Given the description of an element on the screen output the (x, y) to click on. 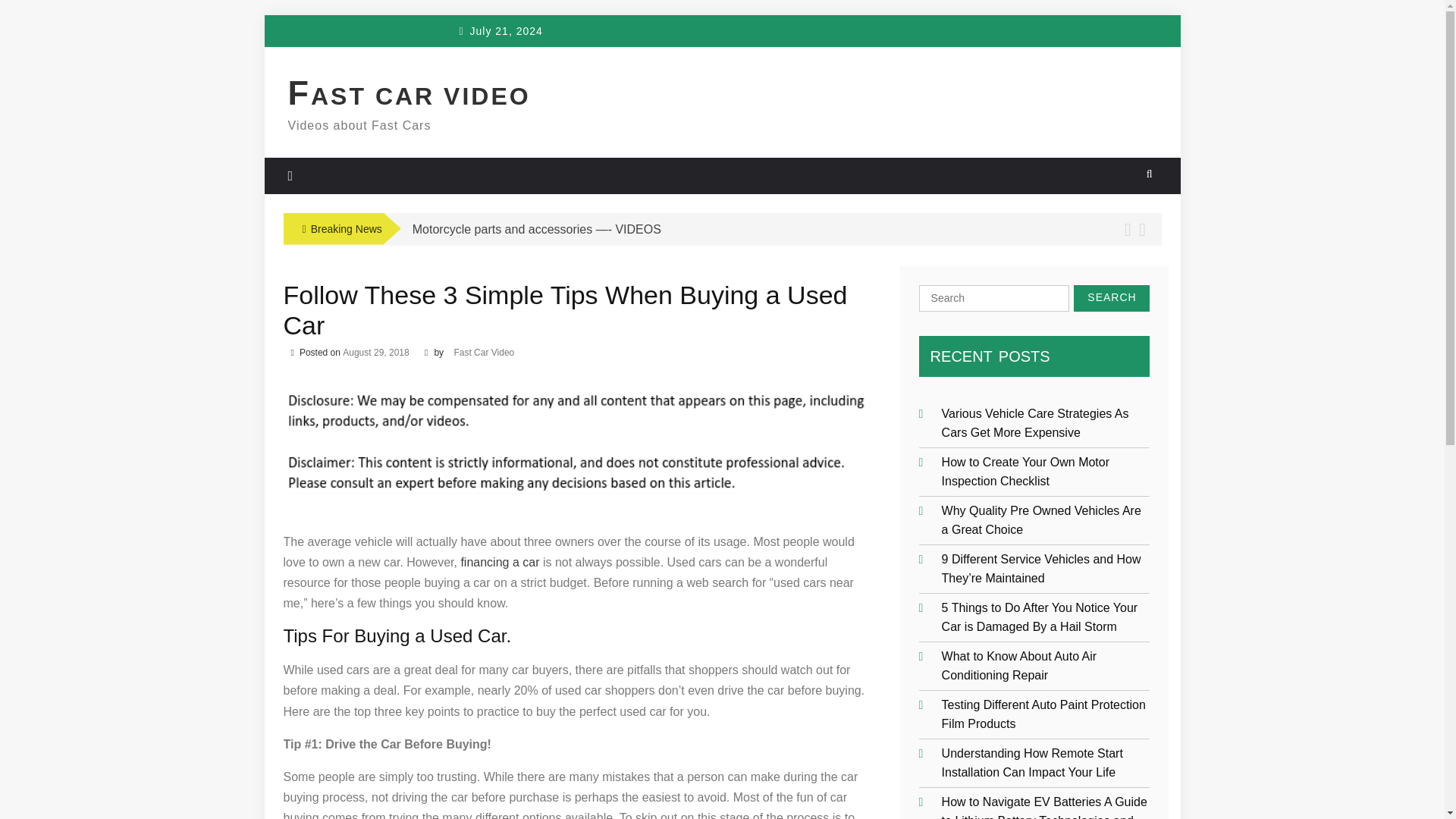
Search (1112, 298)
August 29, 2018 (375, 352)
Why Quality Pre Owned Vehicles Are a Great Choice (1041, 519)
Search (1112, 298)
What to Know About Auto Air Conditioning Repair (1019, 664)
Fast Car Video (482, 352)
Search (1112, 298)
FAST CAR VIDEO (409, 95)
How to Create Your Own Motor Inspection Checklist (1025, 470)
financing a car (499, 562)
Various Vehicle Care Strategies As Cars Get More Expensive (1035, 422)
Here you go (499, 562)
